Given the description of an element on the screen output the (x, y) to click on. 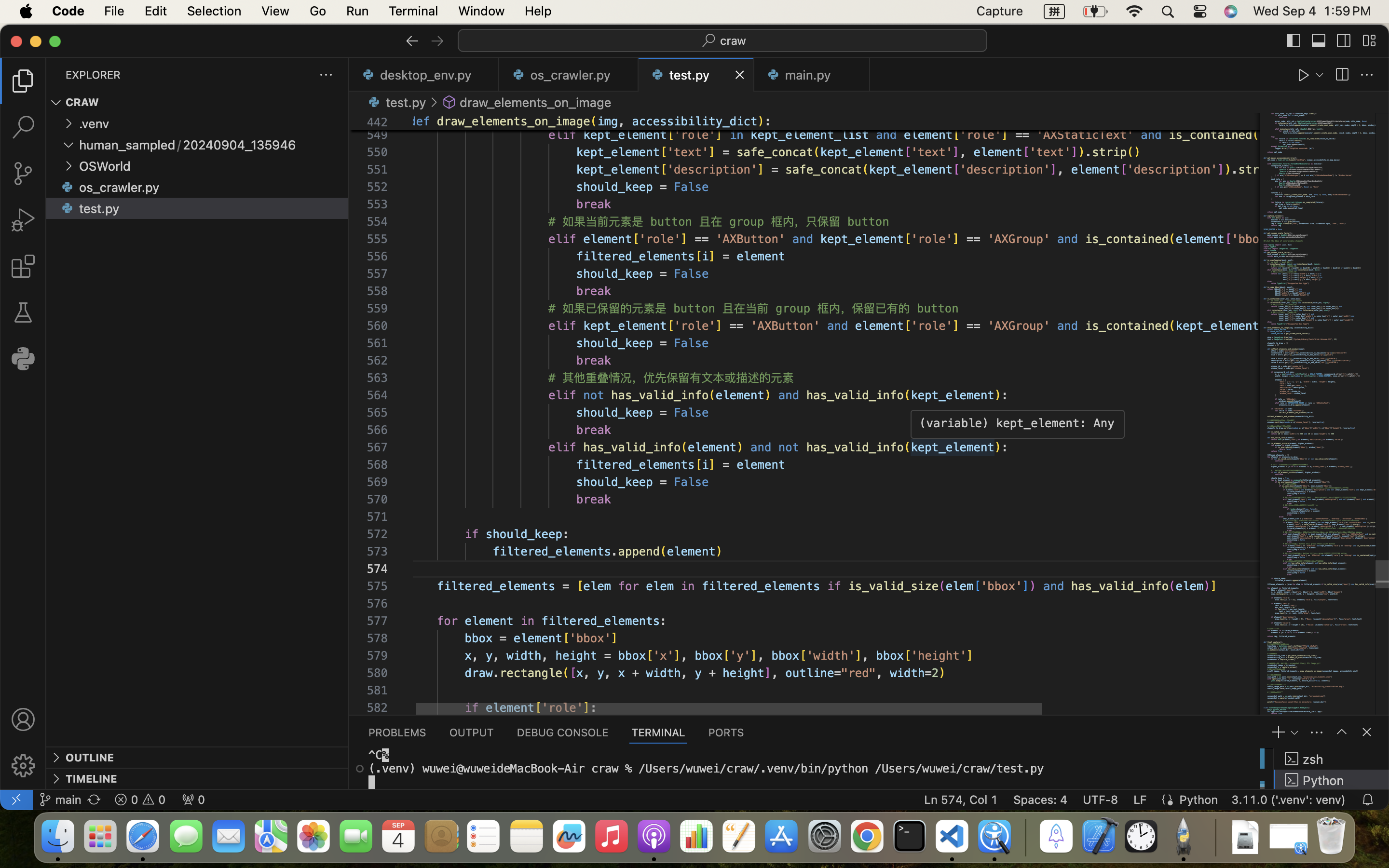
zsh  Element type: AXGroup (1331, 758)
0 OUTPUT Element type: AXRadioButton (471, 731)
test.py  Element type: AXGroup (395, 101)
 0  0 Element type: AXButton (139, 799)
 Element type: AXButton (1366, 731)
